Given the description of an element on the screen output the (x, y) to click on. 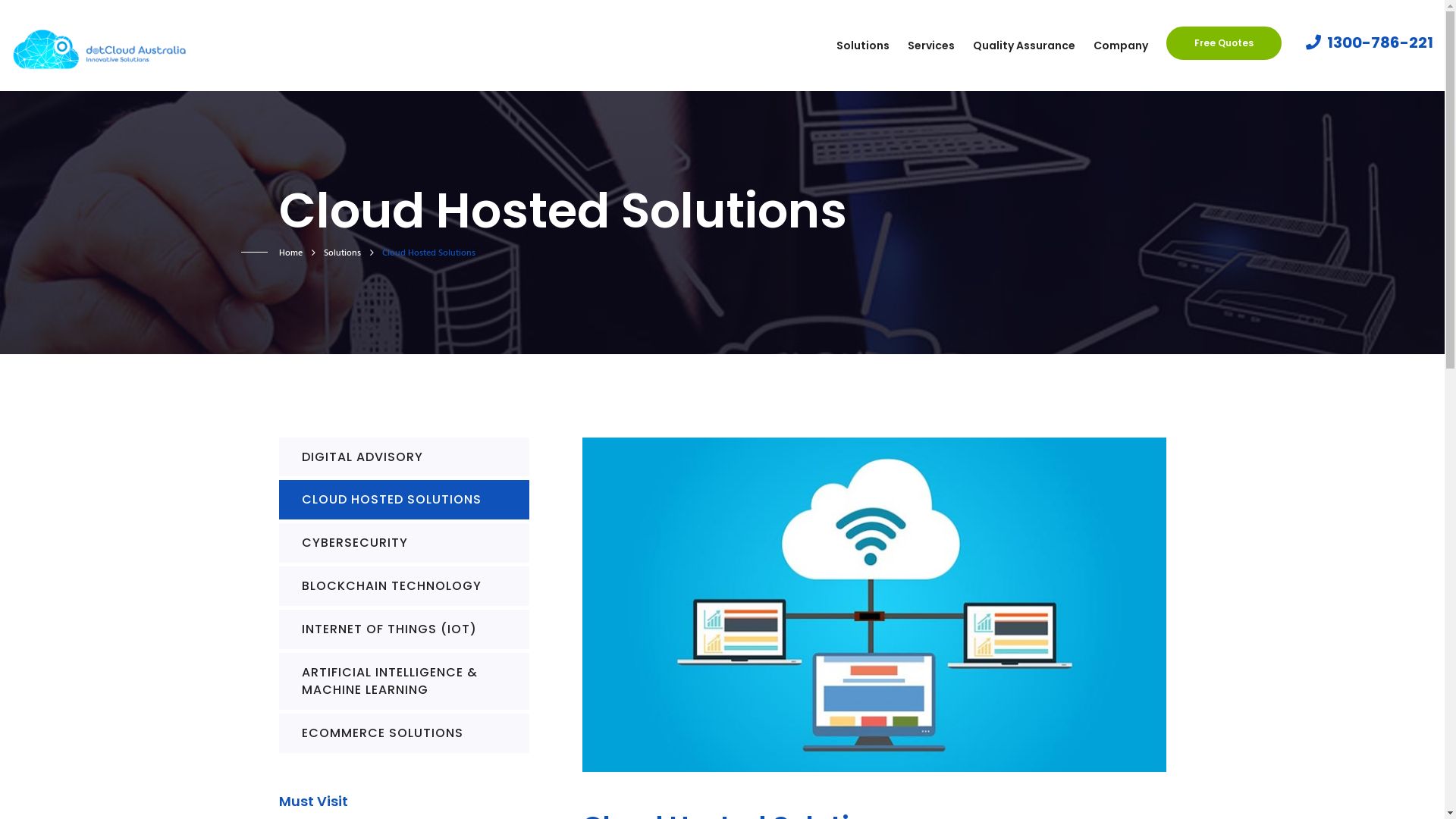
Company Element type: text (1120, 45)
Home Element type: text (290, 252)
INTERNET OF THINGS (IOT) Element type: text (404, 629)
ECOMMERCE SOLUTIONS Element type: text (404, 733)
CLOUD HOSTED SOLUTIONS Element type: text (404, 499)
CYBERSECURITY Element type: text (404, 542)
Services Element type: text (930, 45)
Quality Assurance Element type: text (1023, 45)
Free Quotes Element type: text (1223, 42)
DIGITAL ADVISORY Element type: text (404, 456)
Solutions Element type: text (341, 252)
BLOCKCHAIN TECHNOLOGY Element type: text (404, 585)
ARTIFICIAL INTELLIGENCE & MACHINE LEARNING Element type: text (404, 681)
Solutions Element type: text (862, 45)
